Given the description of an element on the screen output the (x, y) to click on. 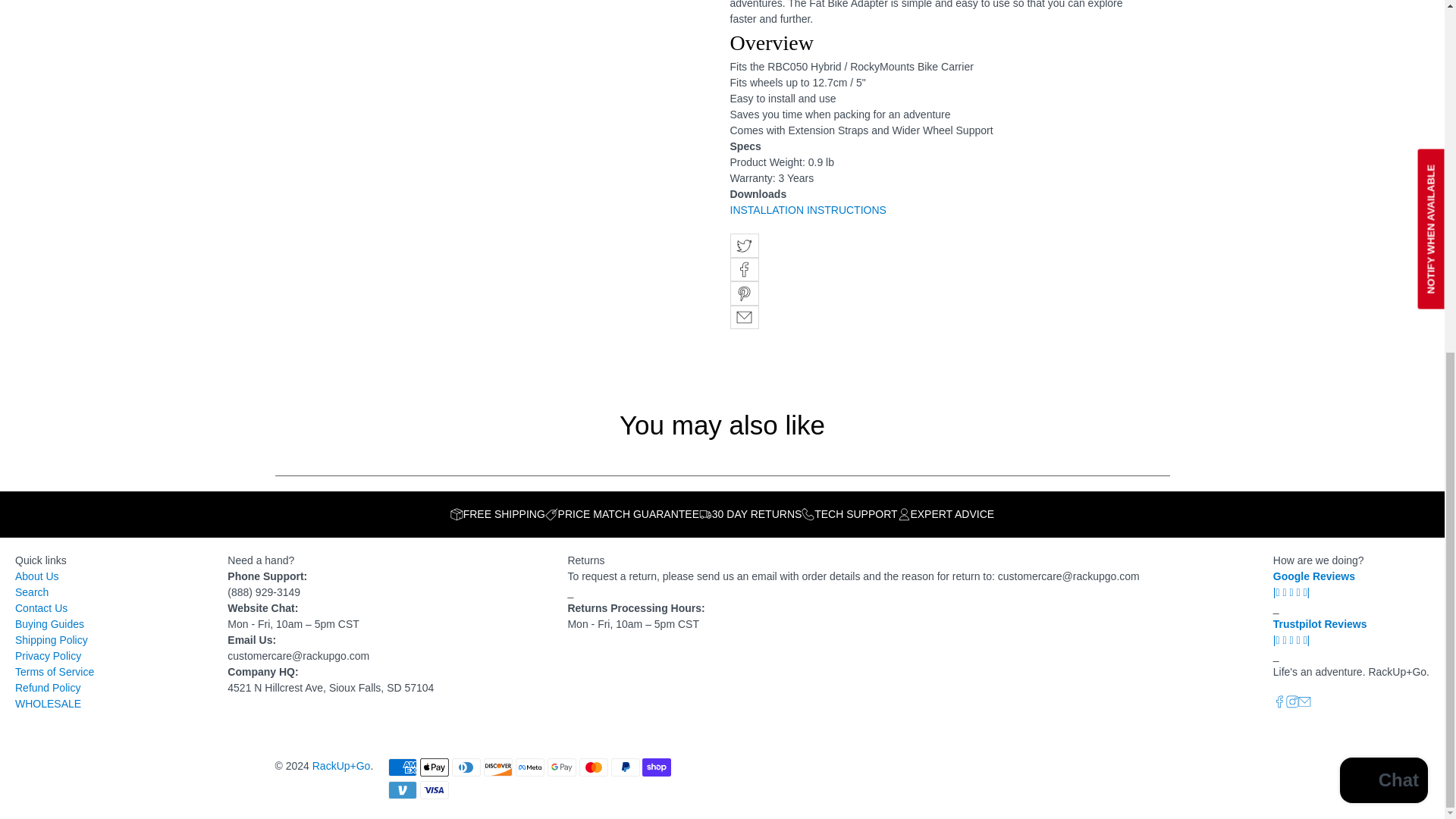
Share this on Twitter (743, 245)
Rhino-Rack Fat Bike Adapter Instructions (807, 209)
Apple Pay (434, 767)
American Express (402, 767)
